Given the description of an element on the screen output the (x, y) to click on. 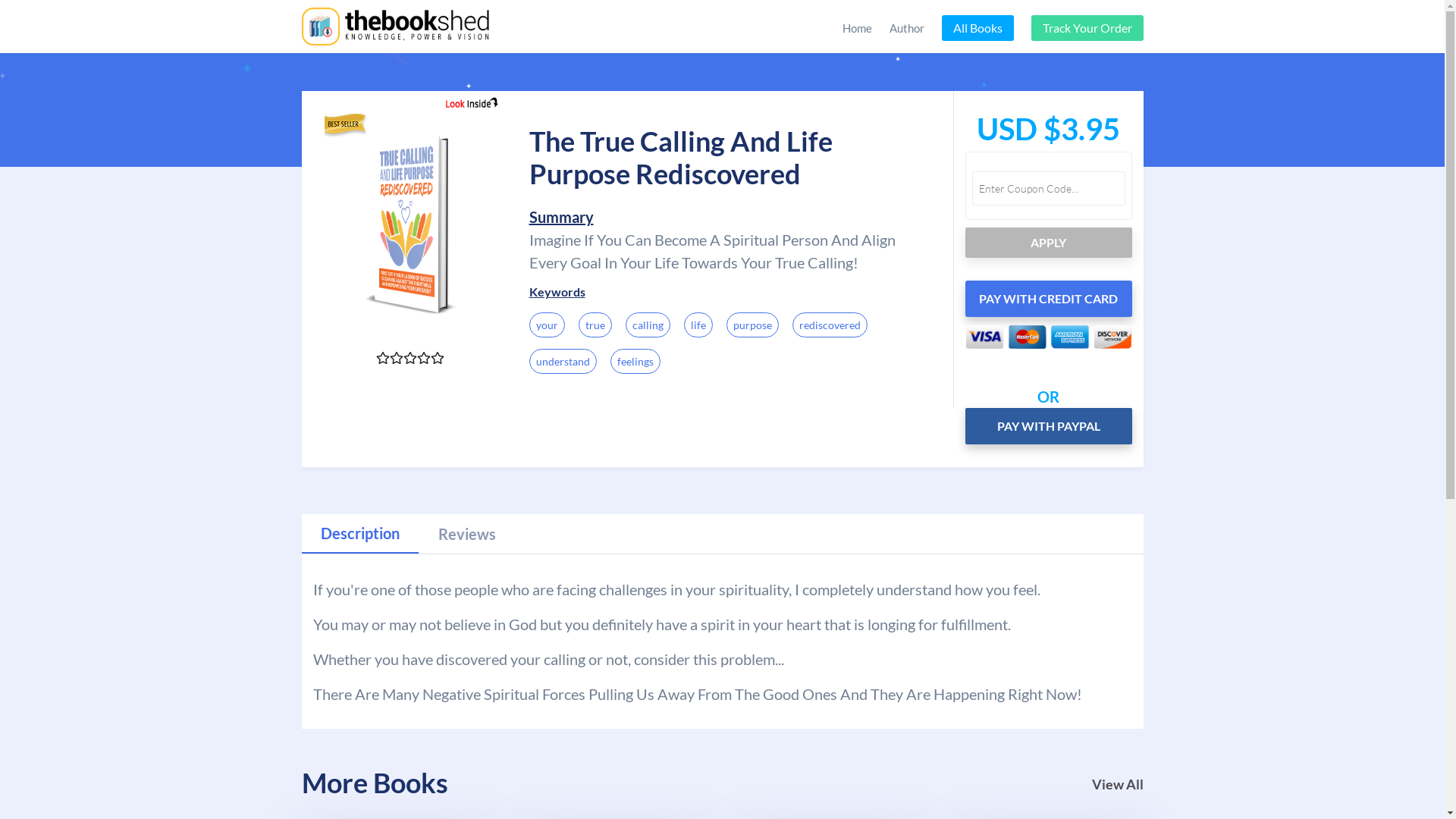
Description Element type: text (359, 533)
Author Element type: text (905, 28)
your Element type: text (546, 324)
understand Element type: text (562, 360)
life Element type: text (698, 324)
All Books Element type: text (977, 27)
calling Element type: text (646, 324)
Reviews Element type: text (466, 534)
PAY WITH CREDIT CARD Element type: text (1047, 298)
PAY WITH PAYPAL Element type: text (1047, 425)
purpose Element type: text (752, 324)
rediscovered Element type: text (828, 324)
true Element type: text (594, 324)
View All Element type: text (1117, 784)
Home Element type: text (856, 28)
Track Your Order Element type: text (1087, 27)
feelings Element type: text (634, 360)
